Given the description of an element on the screen output the (x, y) to click on. 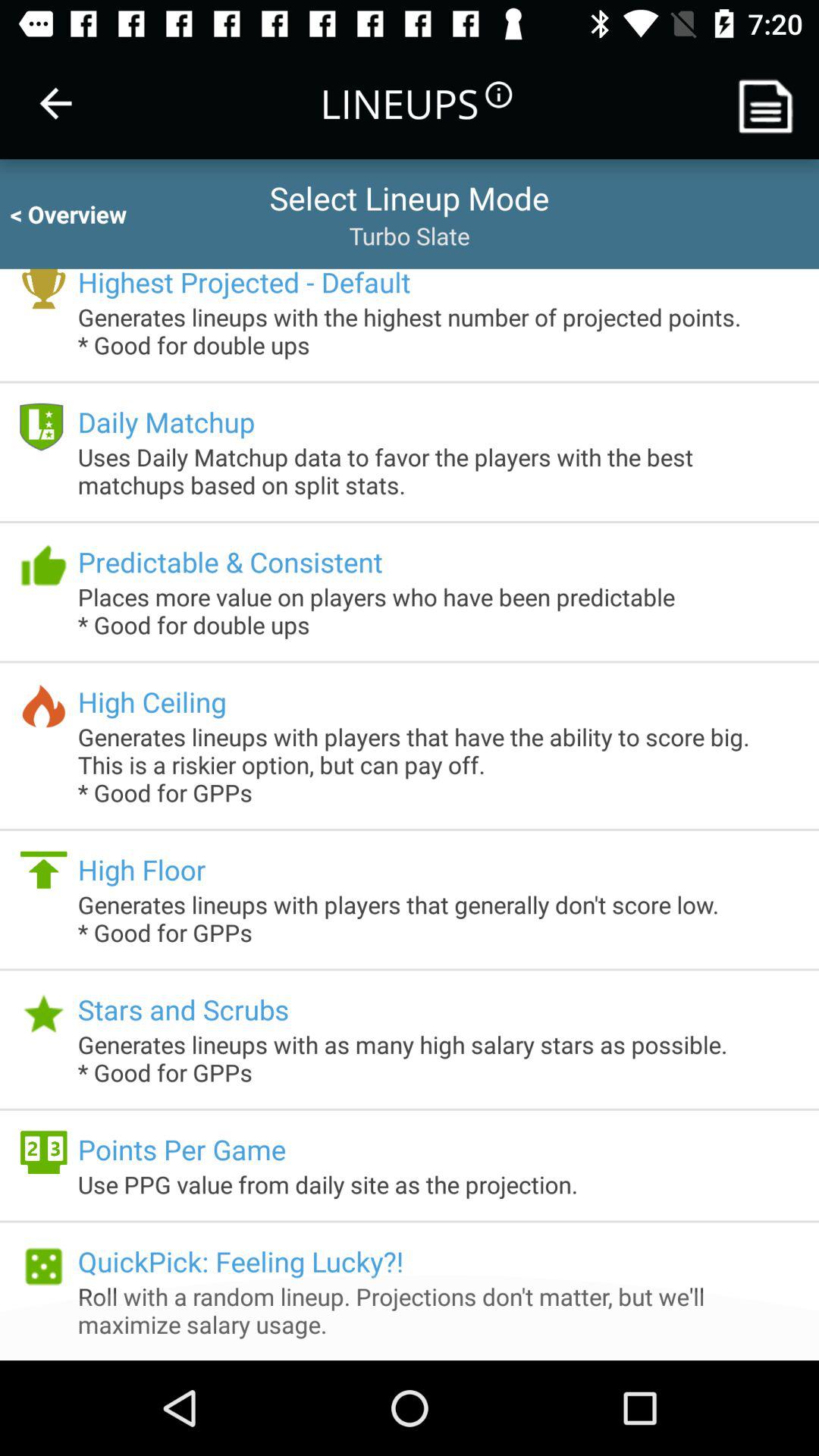
choose the icon to the left of the select lineup mode icon (81, 214)
